Given the description of an element on the screen output the (x, y) to click on. 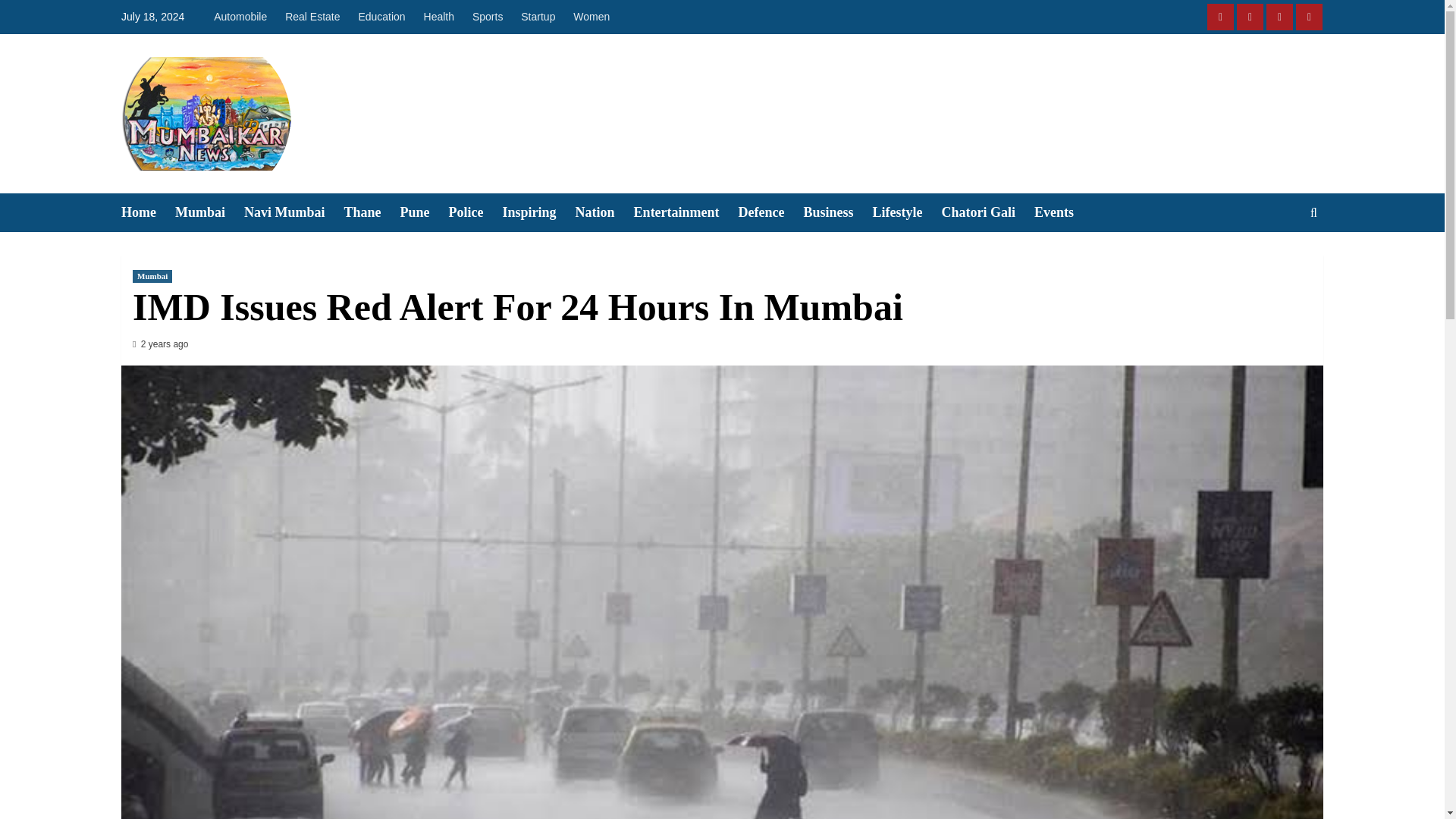
Chatori Gali (988, 212)
Events (1063, 212)
Home (147, 212)
Inspiring (538, 212)
Lifestyle (907, 212)
Navi Mumbai (293, 212)
Mumbai (151, 276)
Business (837, 212)
Pune (424, 212)
Facebook (1220, 17)
Police (475, 212)
Women (591, 17)
Sports (487, 17)
Startup (537, 17)
Search (1278, 259)
